Given the description of an element on the screen output the (x, y) to click on. 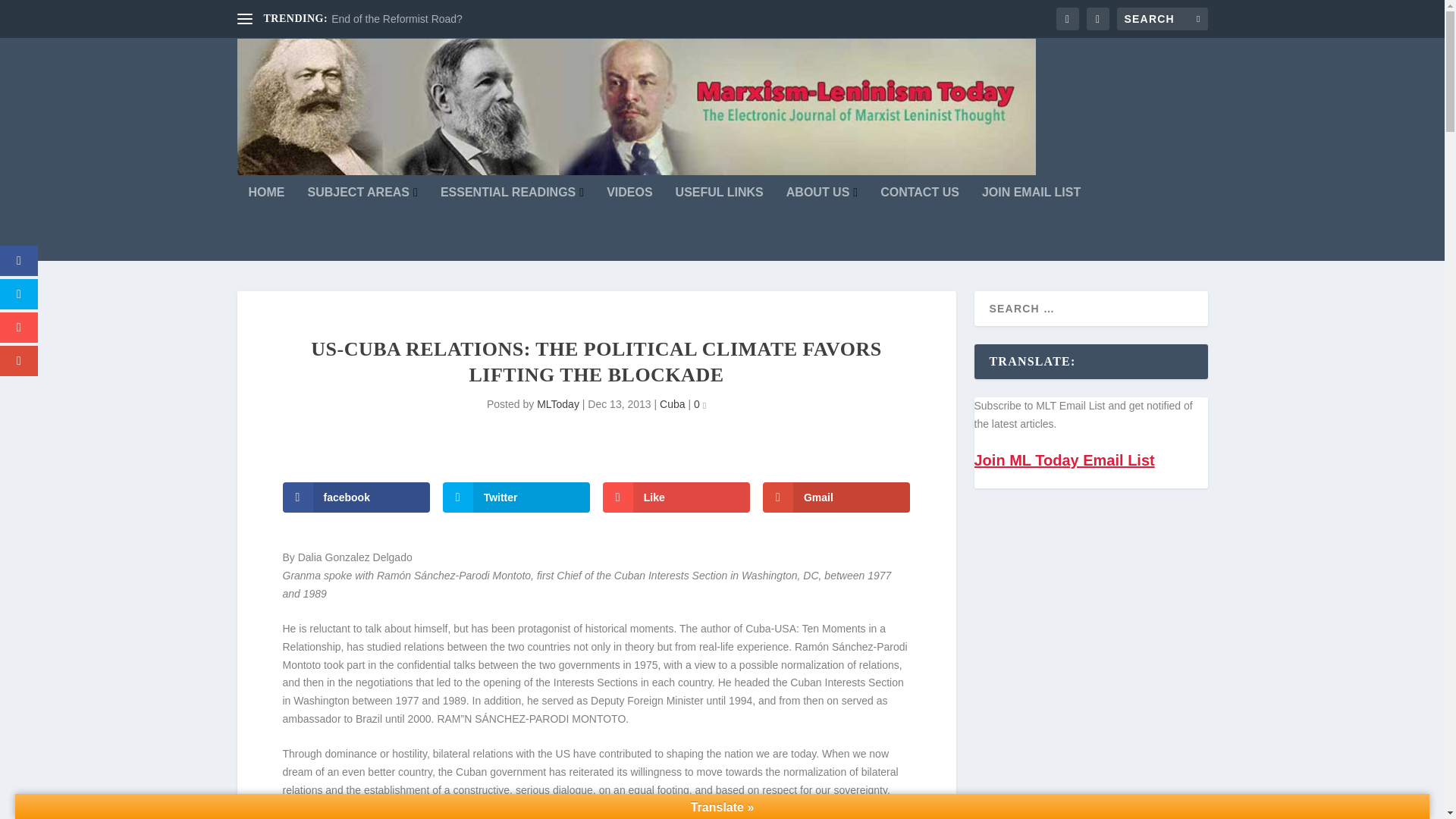
ABOUT US (821, 223)
End of the Reformist Road? (397, 19)
Posts by MLToday (558, 404)
USEFUL LINKS (718, 223)
ESSENTIAL READINGS (512, 223)
SUBJECT AREAS (362, 223)
Search for: (1161, 18)
